Given the description of an element on the screen output the (x, y) to click on. 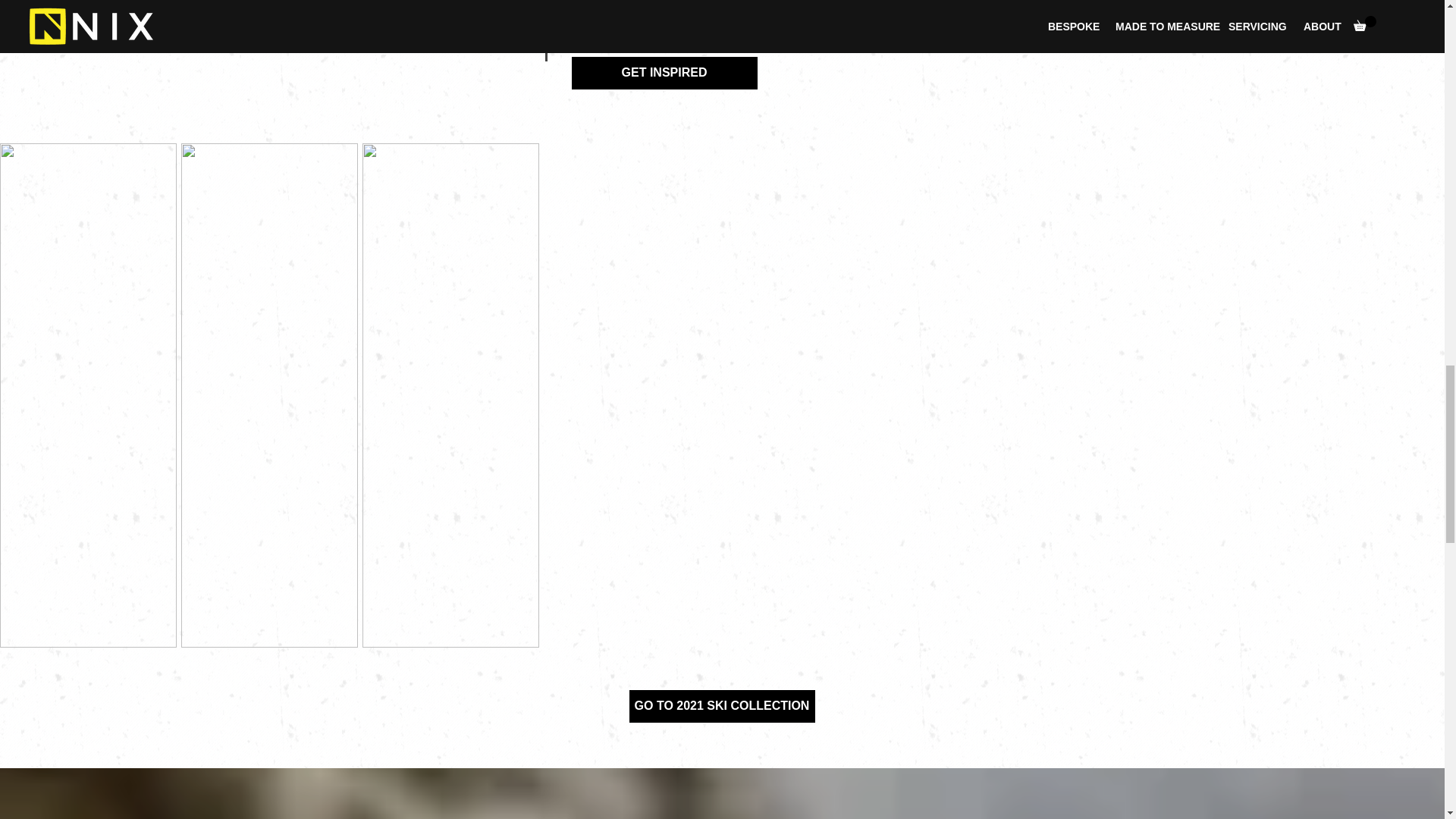
GO TO 2021 SKI COLLECTION (721, 706)
GET INSPIRED (663, 73)
